Given the description of an element on the screen output the (x, y) to click on. 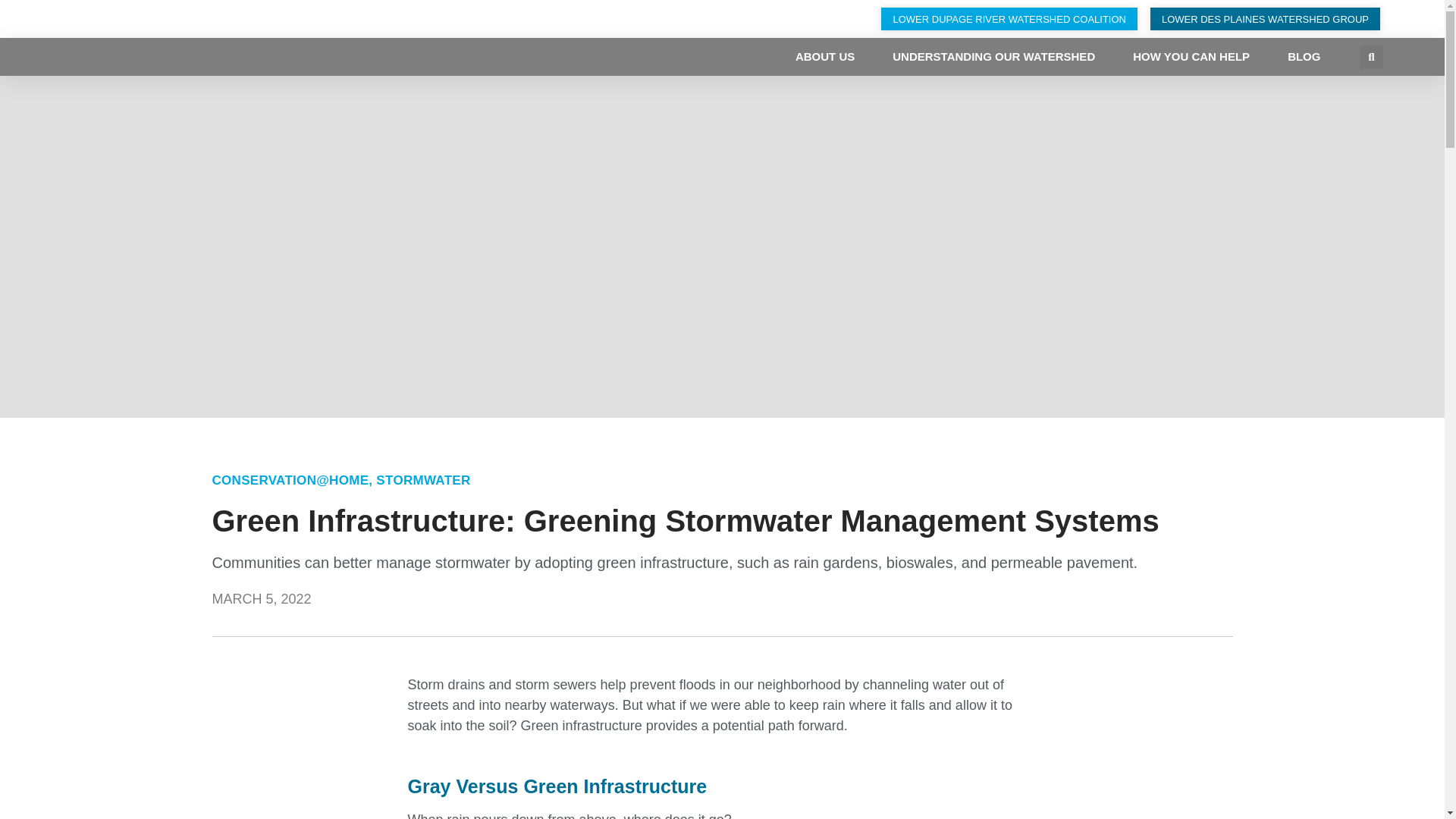
ABOUT US (824, 56)
UNDERSTANDING OUR WATERSHED (993, 56)
LOWER DES PLAINES WATERSHED GROUP (1265, 18)
HOW YOU CAN HELP (1190, 56)
LOWER DUPAGE RIVER WATERSHED COALITION (1008, 18)
STORMWATER (422, 480)
BLOG (1303, 56)
